Given the description of an element on the screen output the (x, y) to click on. 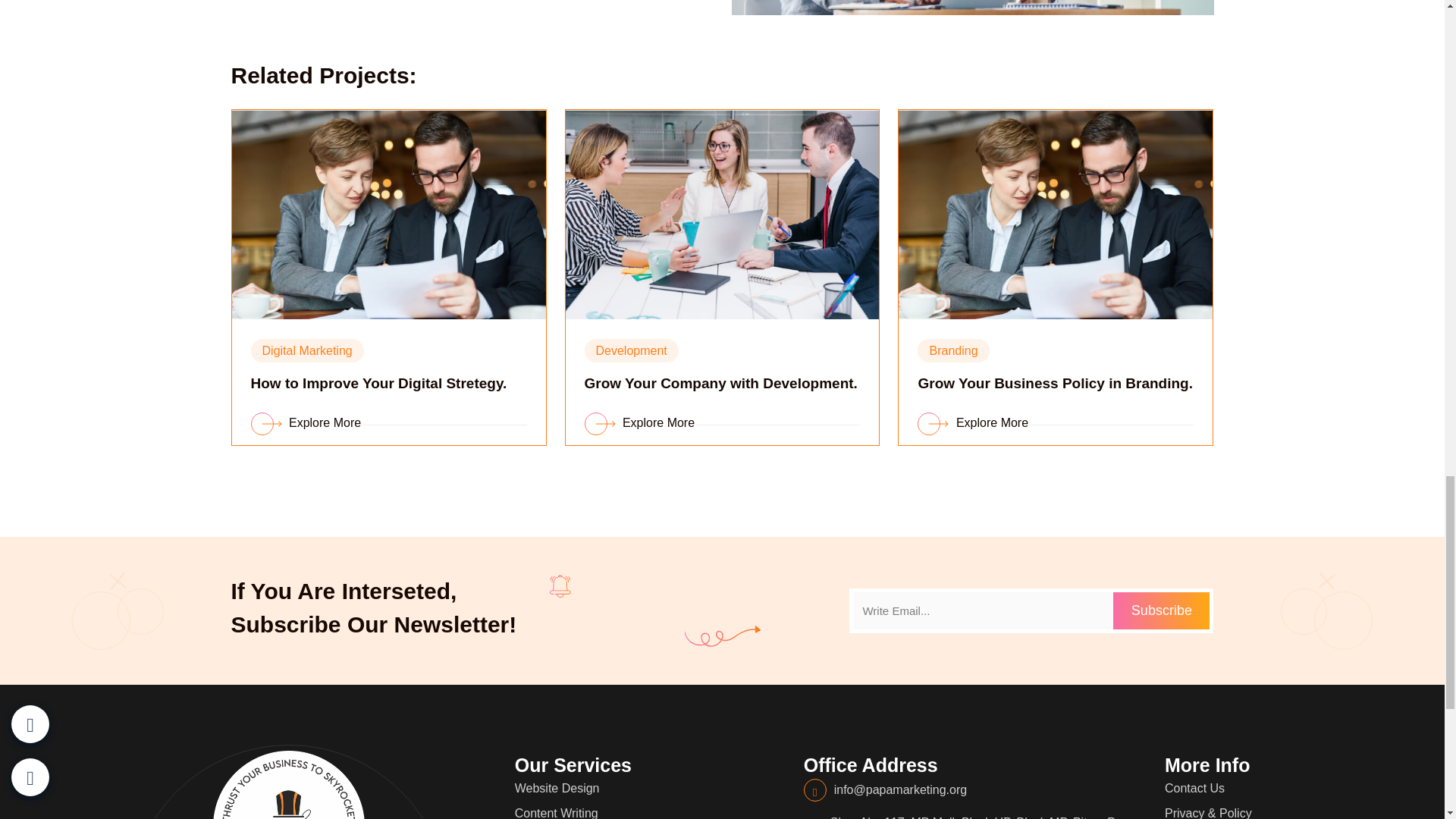
Grow Your Company with Development. (720, 383)
Explore More (305, 422)
Subscribe (1161, 610)
Explore More (638, 422)
Grow Your Business Policy in Branding. (1054, 383)
How to Improve Your Digital Stretegy. (378, 383)
Explore More (972, 422)
